Given the description of an element on the screen output the (x, y) to click on. 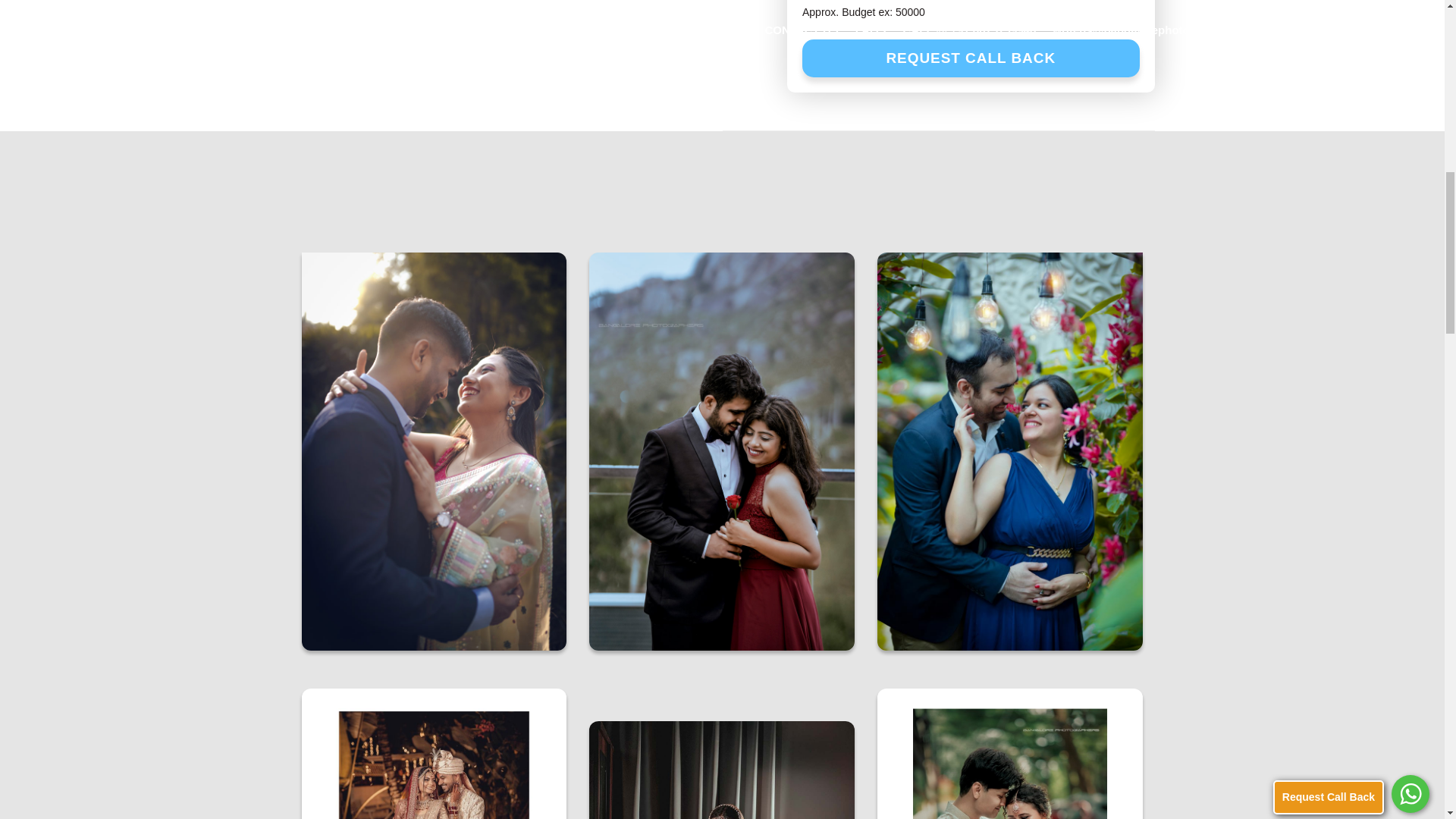
REQUEST CALL BACK (971, 57)
